Given the description of an element on the screen output the (x, y) to click on. 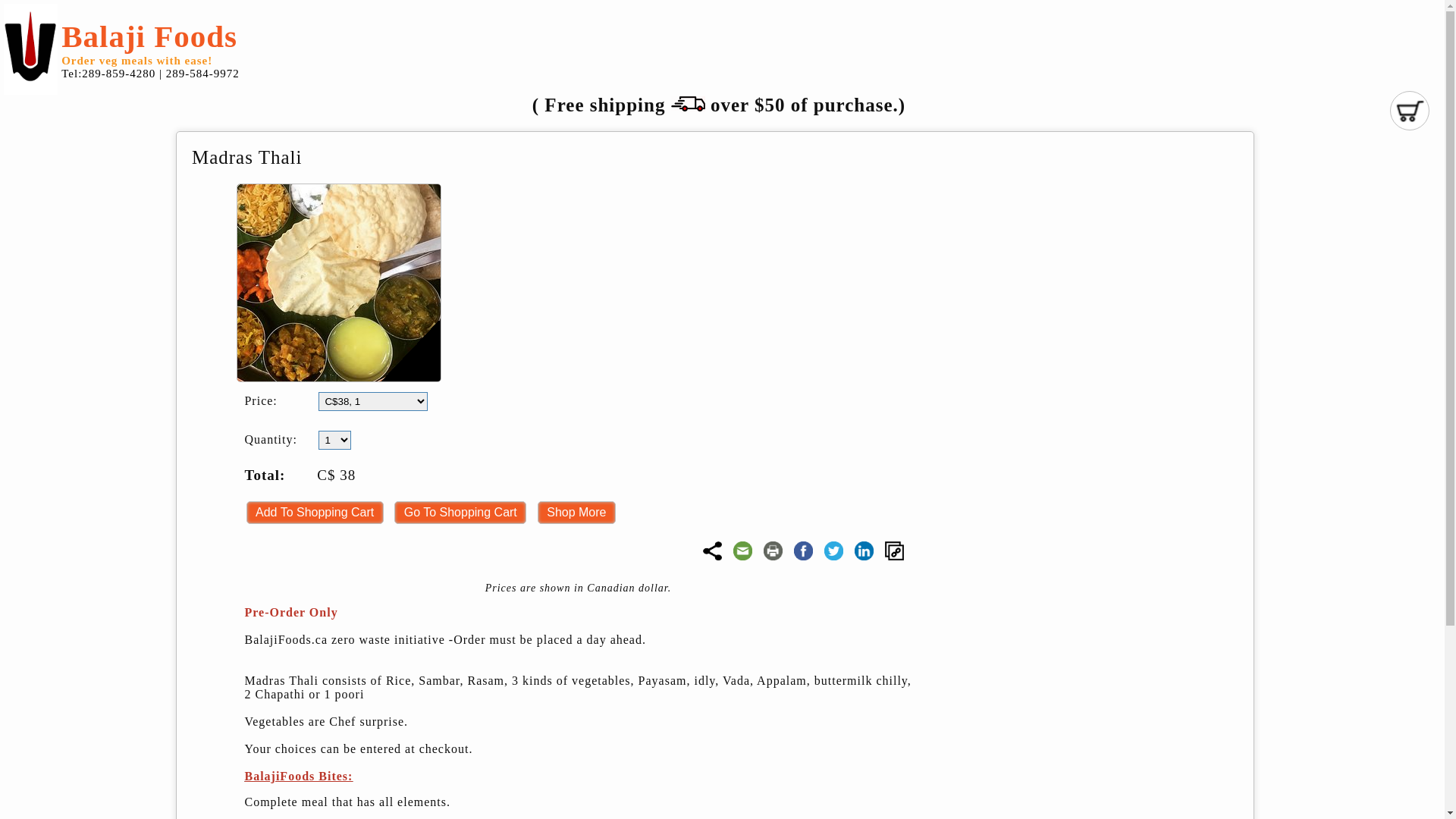
Copy link Element type: hover (893, 550)
Twitter Element type: hover (833, 550)
Print Element type: hover (772, 550)
Email Element type: hover (742, 550)
Facebook Element type: hover (802, 550)
Click here to see items in booking cart Element type: hover (1409, 110)
LinkedIn Element type: hover (863, 550)
 Go To Shopping Cart  Element type: text (460, 512)
Share Element type: hover (711, 550)
 Shop More  Element type: text (576, 512)
